Given the description of an element on the screen output the (x, y) to click on. 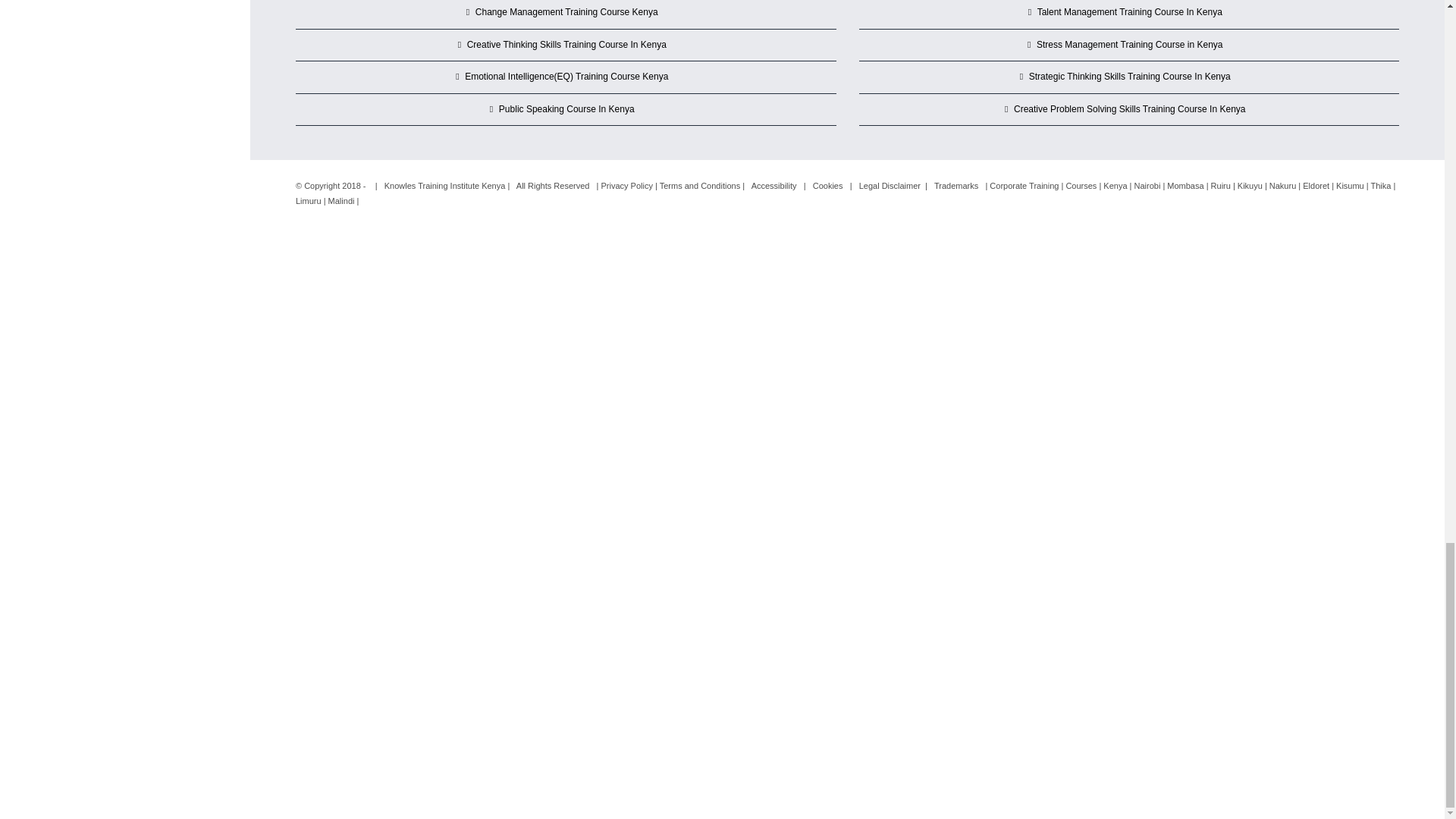
Change Management Training Course Kenya (566, 12)
Talent Management Training Course In Kenya (1129, 12)
Stress Management Training Course in Kenya (1129, 45)
Knowles Training Institute Kenya (444, 185)
Privacy Policy (625, 185)
Strategic Thinking Skills Training Course In Kenya (1129, 76)
Cookies (827, 185)
Creative Problem Solving Skills Training Course In Kenya (1129, 109)
Creative Thinking Skills Training Course In Kenya (566, 45)
Terms and Conditions (699, 185)
